Given the description of an element on the screen output the (x, y) to click on. 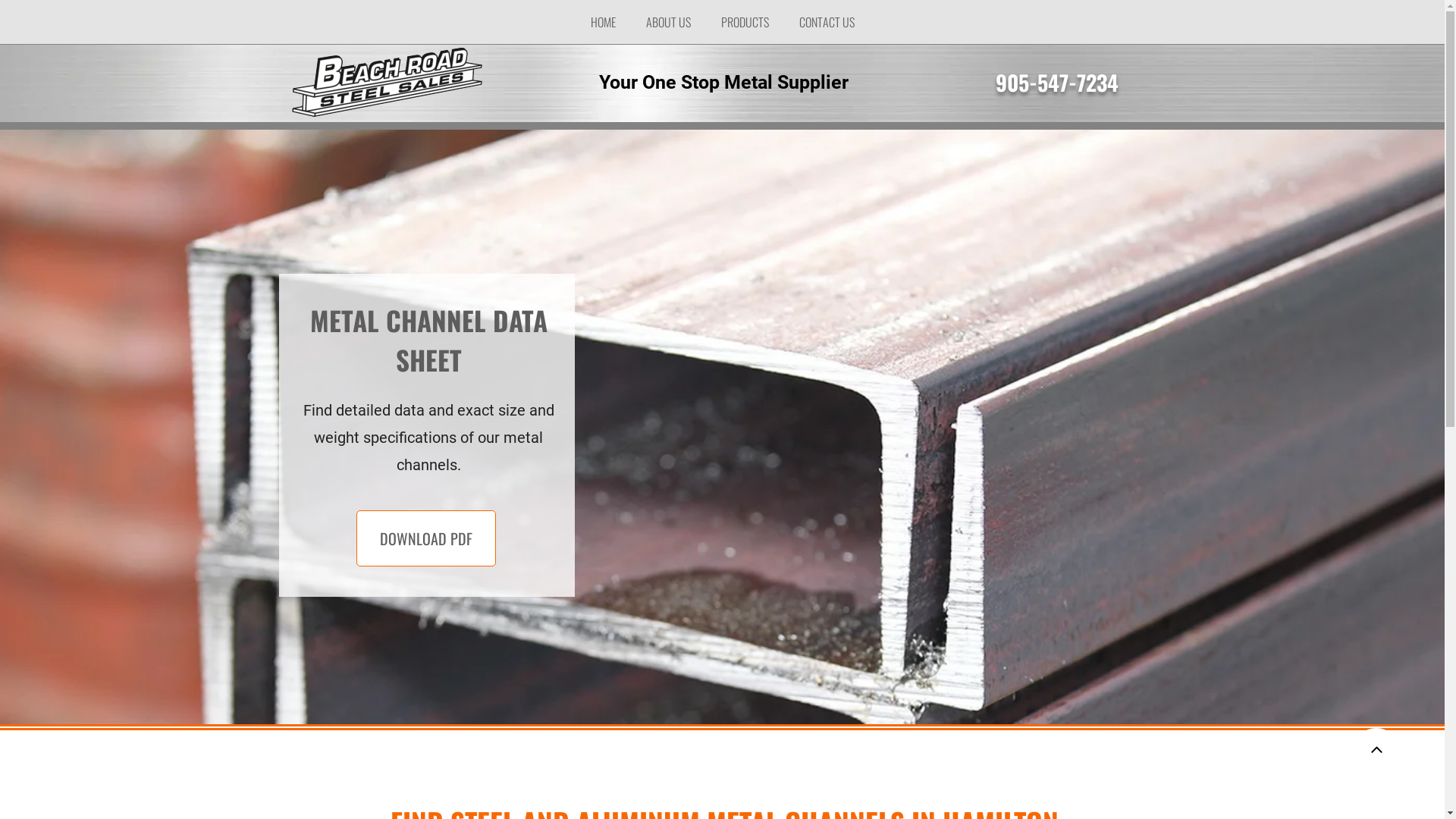
HOME Element type: text (602, 21)
ABOUT US Element type: text (668, 21)
CONTACT US Element type: text (826, 21)
905-547-7234 Element type: text (1055, 87)
DOWNLOAD PDF Element type: text (425, 537)
PRODUCTS Element type: text (744, 21)
